Given the description of an element on the screen output the (x, y) to click on. 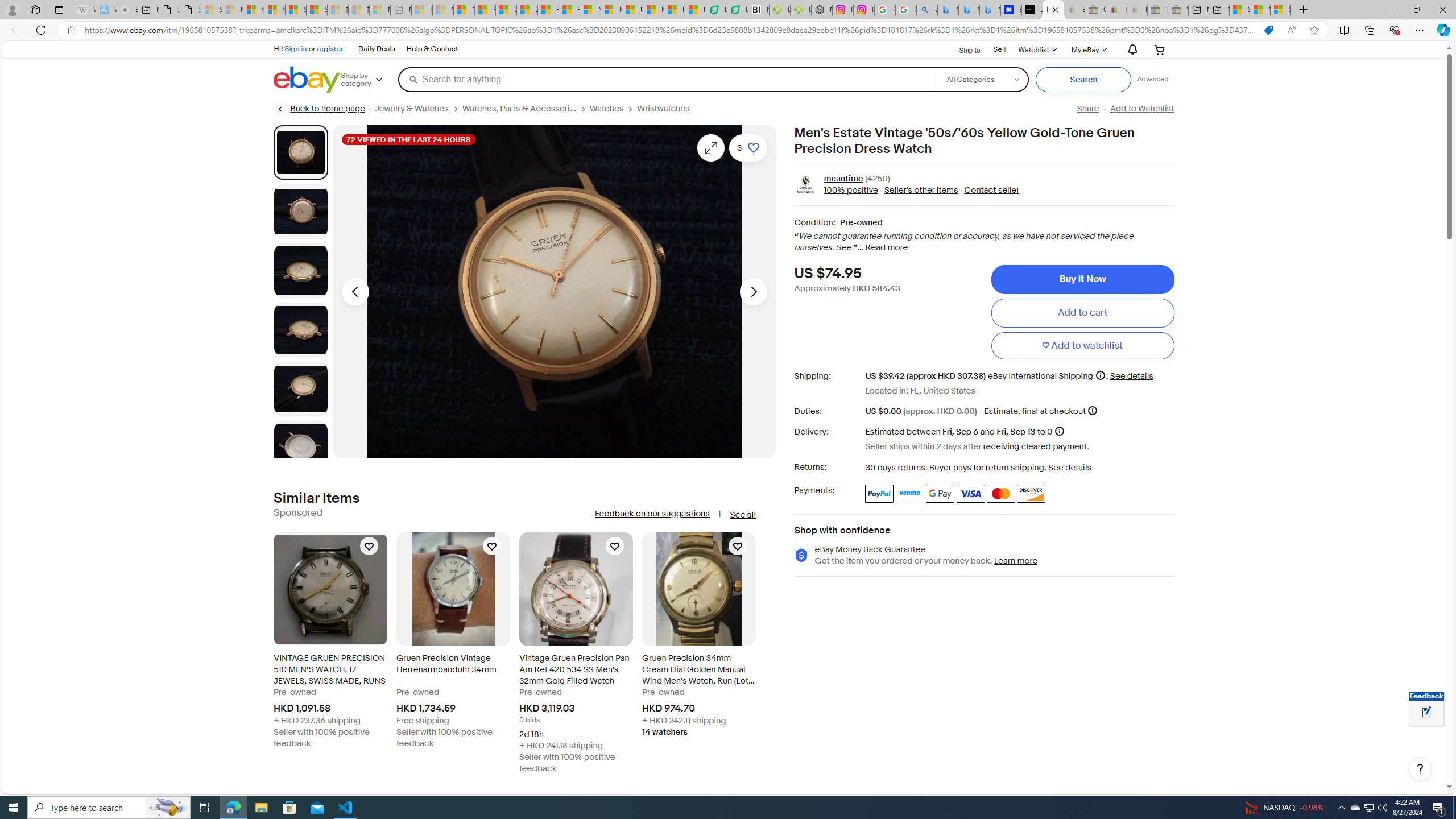
Sell (999, 49)
Add to watchlist (1082, 345)
Jewelry & Watches (418, 108)
100% positive (850, 190)
Picture 6 of 8 (300, 447)
Your shopping cart (1159, 49)
Microsoft Bing Travel - Flights from Hong Kong to Bangkok (948, 9)
